Given the description of an element on the screen output the (x, y) to click on. 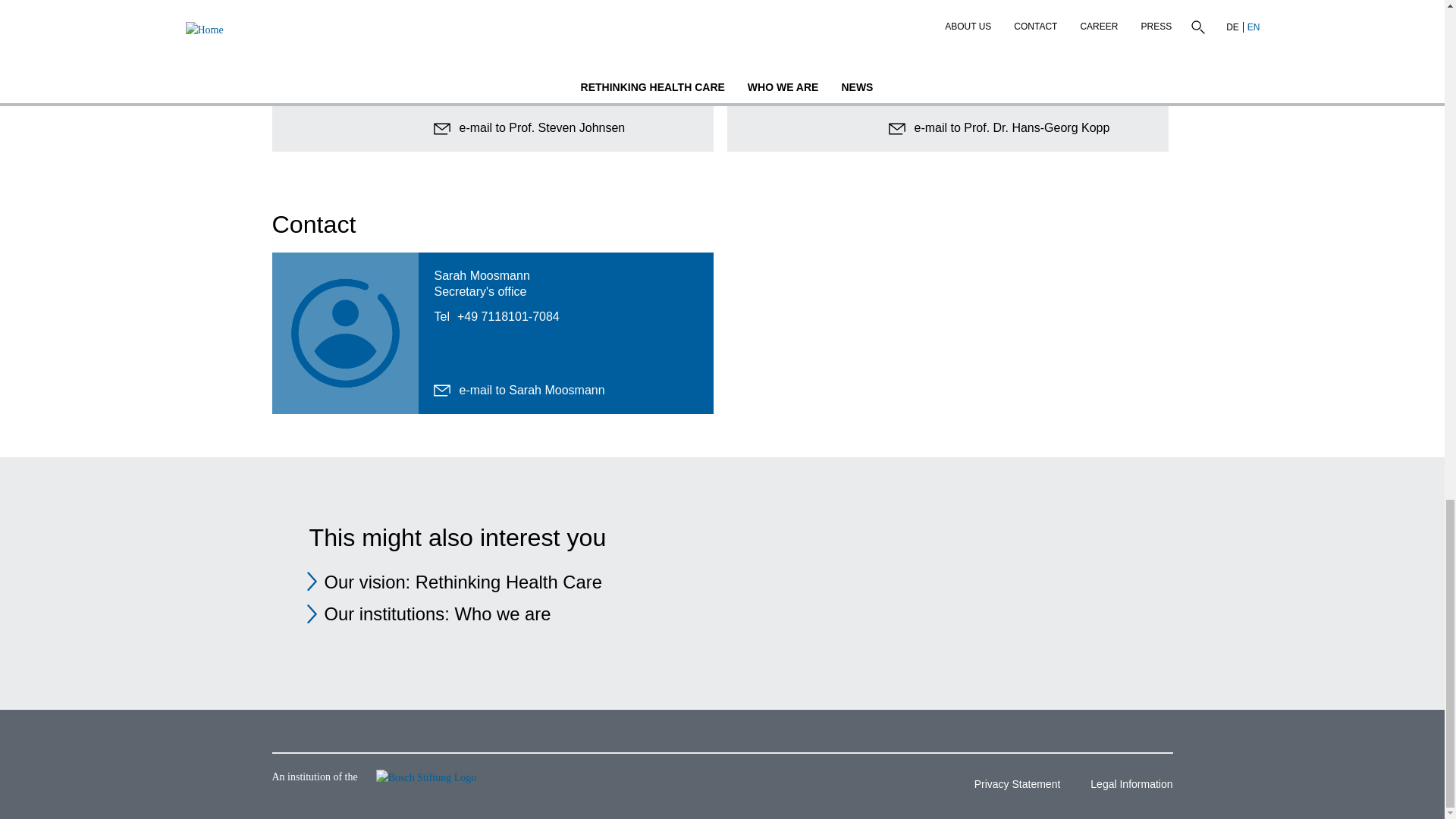
e-mail to Sarah Moosmann (518, 390)
Privacy Statement (1011, 786)
e-mail to Prof. Dr. Hans-Georg Kopp (998, 127)
Our vision: Rethinking Health Care (463, 580)
e-mail to Prof. Steven Johnsen (528, 127)
Our institutions: Who we are (437, 613)
Legal Information (1125, 786)
